Given the description of an element on the screen output the (x, y) to click on. 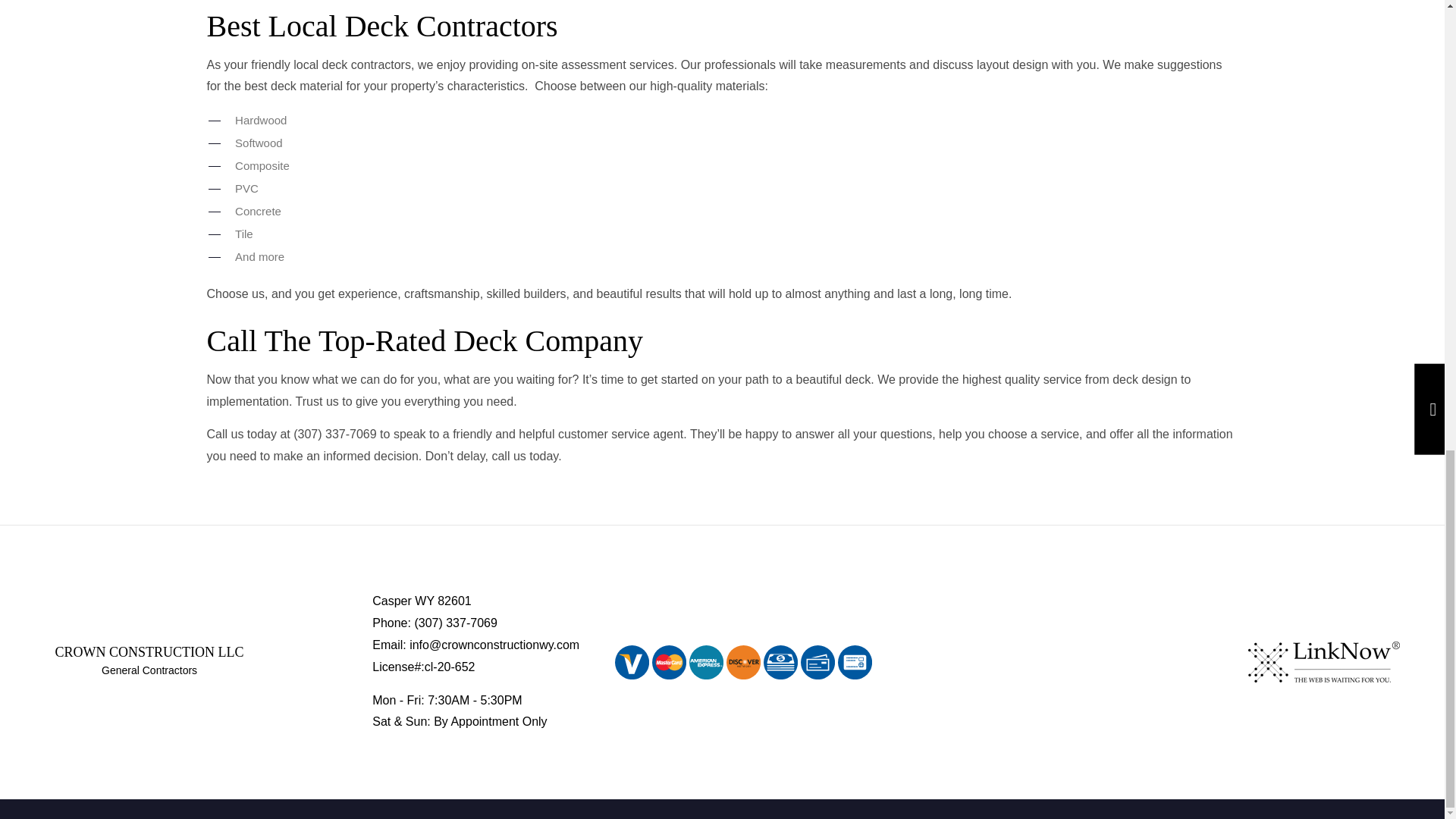
Crown Construction LLC (149, 652)
